Given the description of an element on the screen output the (x, y) to click on. 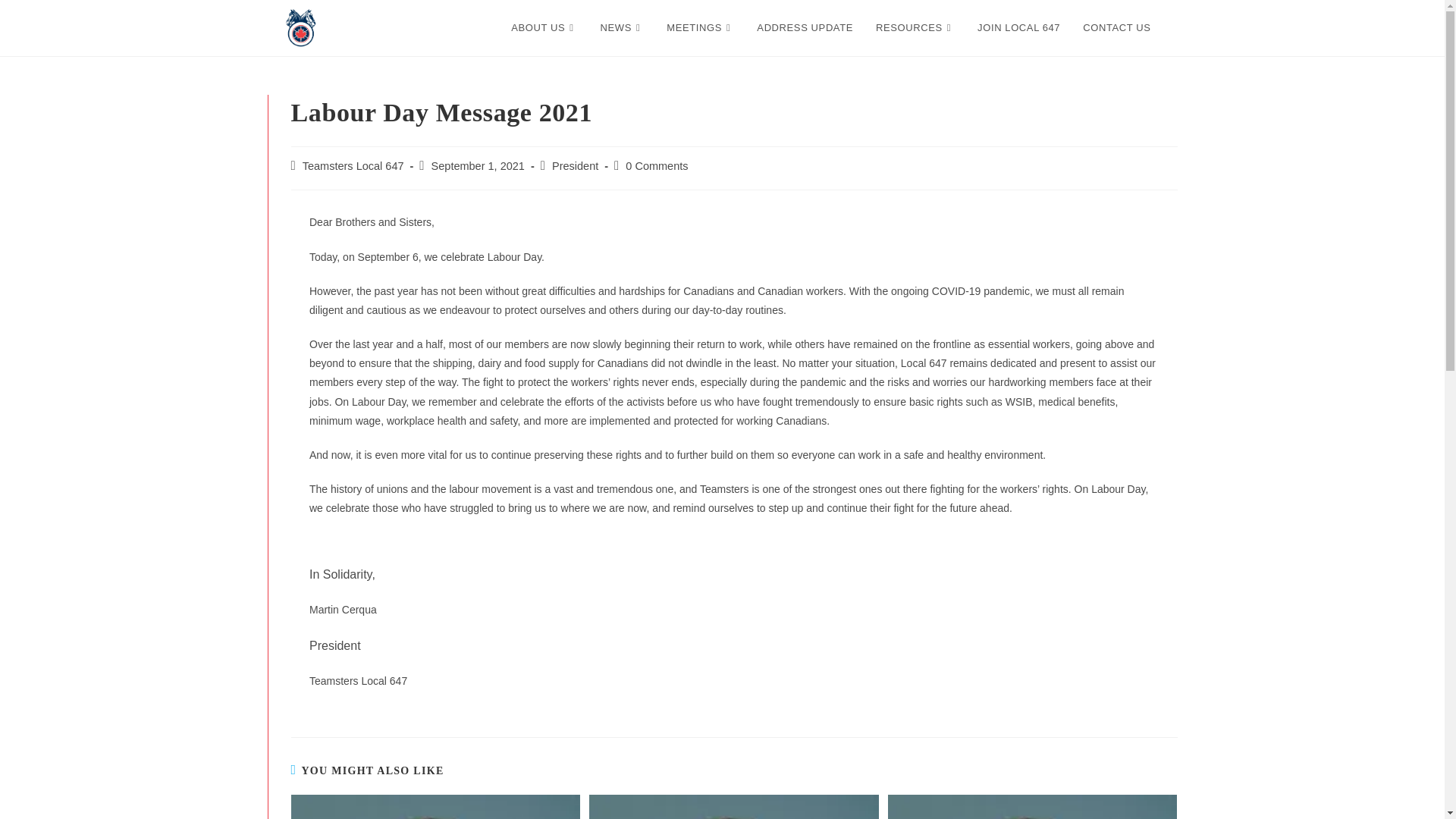
ADDRESS UPDATE (804, 28)
ABOUT US (543, 28)
Posts by Teamsters Local 647 (353, 165)
CONTACT US (1116, 28)
RESOURCES (915, 28)
MEETINGS (700, 28)
NEWS (622, 28)
JOIN LOCAL 647 (1018, 28)
